Given the description of an element on the screen output the (x, y) to click on. 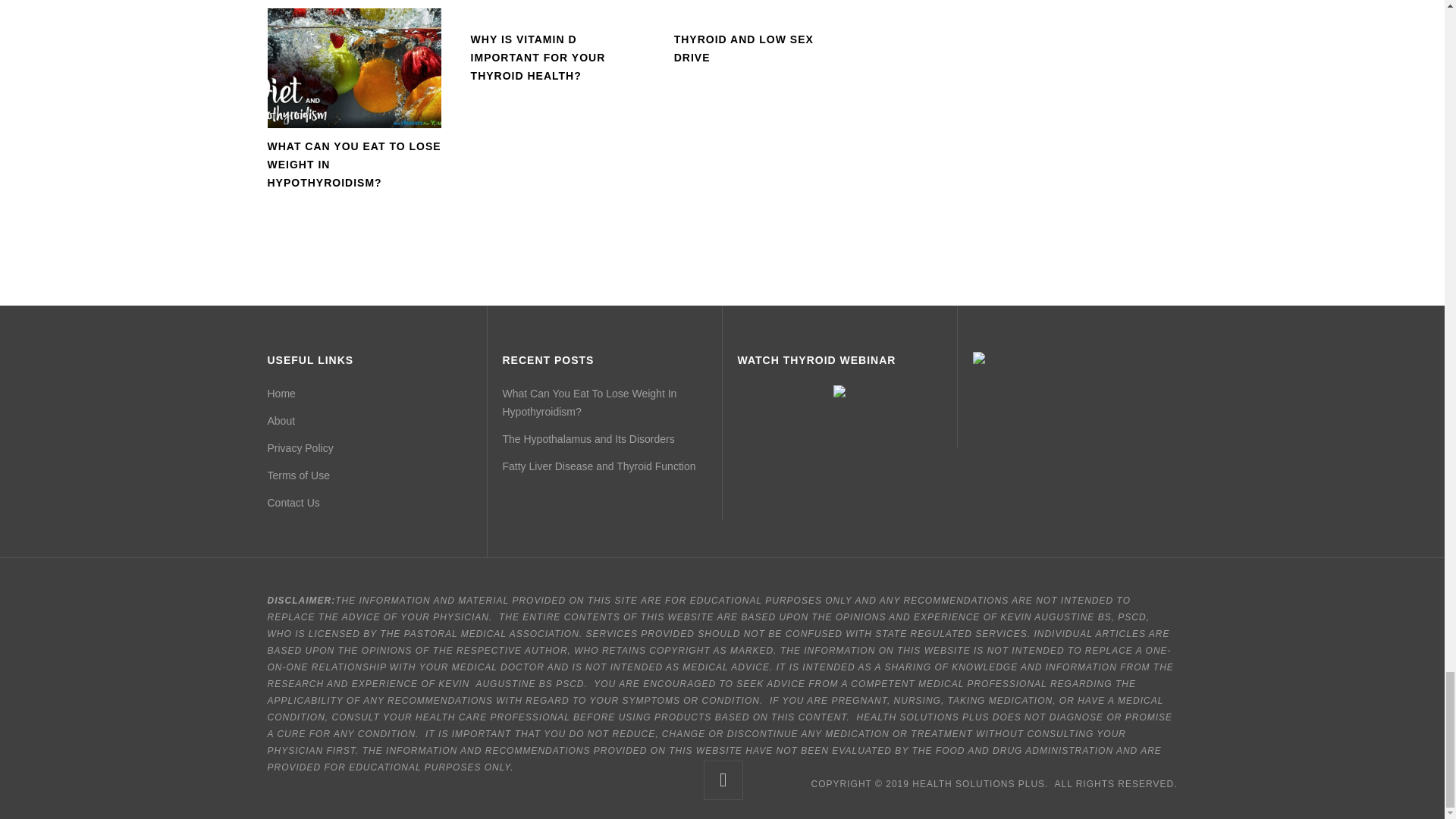
WHY IS VITAMIN D IMPORTANT FOR YOUR THYROID HEALTH? (537, 57)
Home (280, 393)
About (280, 420)
Contact Us (292, 502)
What Can You Eat To Lose Weight In Hypothyroidism? (589, 402)
Terms of Use (297, 475)
THYROID AND LOW SEX DRIVE (743, 48)
Privacy Policy (299, 448)
WHAT CAN YOU EAT TO LOSE WEIGHT IN HYPOTHYROIDISM? (353, 164)
